Given the description of an element on the screen output the (x, y) to click on. 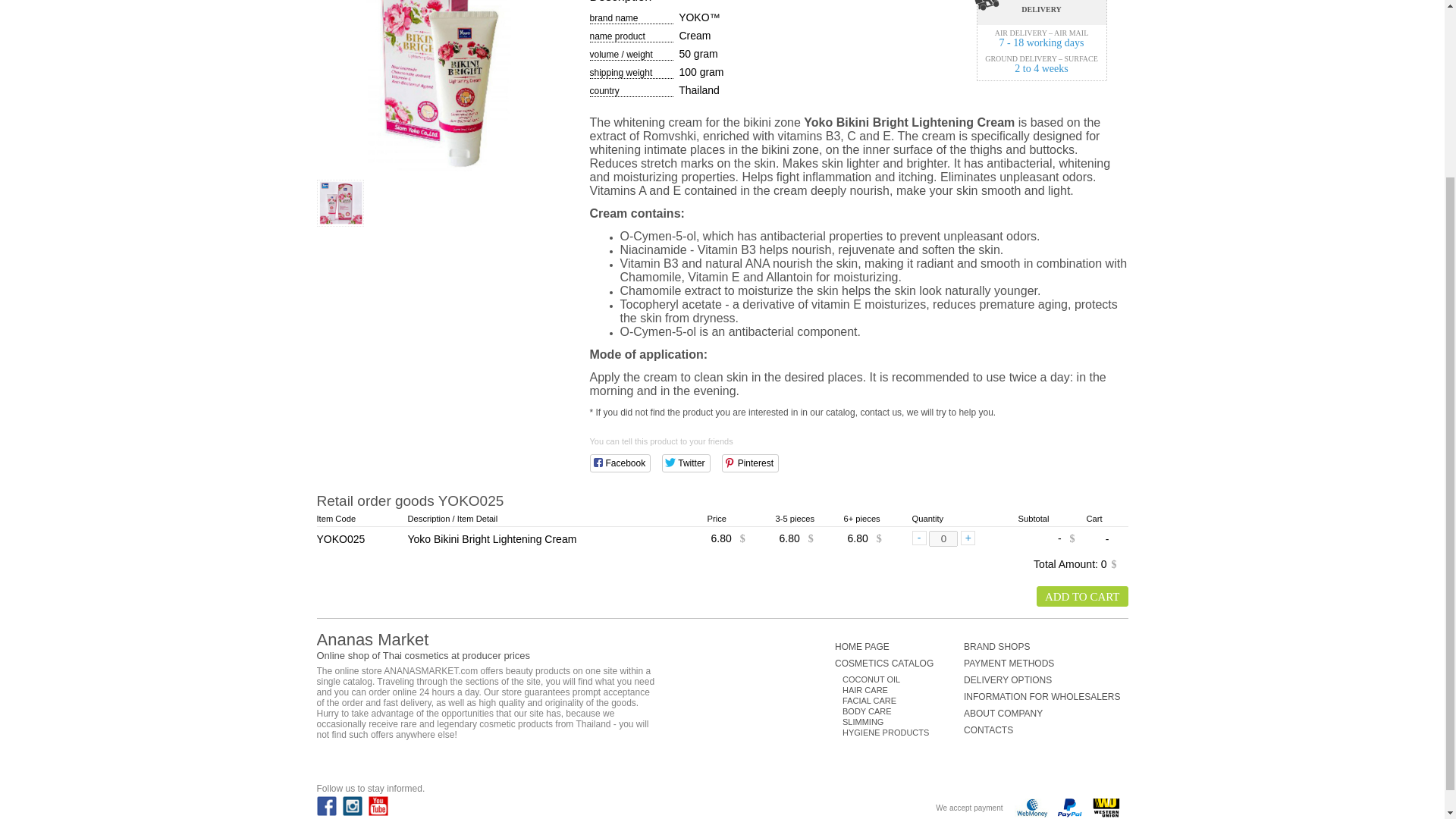
HAIR CARE (903, 689)
FACIAL CARE (903, 700)
PAYMENT METHODS (1041, 663)
- (918, 537)
CONTACTS (1041, 729)
INFORMATION FOR WHOLESALERS (1041, 696)
0 (943, 538)
BODY CARE (903, 710)
DELIVERY OPTIONS (1041, 679)
BRAND SHOPS (1041, 646)
SLIMMING (903, 721)
COCONUT OIL (903, 678)
COSMETICS CATALOG (898, 663)
HOME PAGE (898, 646)
ABOUT COMPANY (1041, 713)
